Given the description of an element on the screen output the (x, y) to click on. 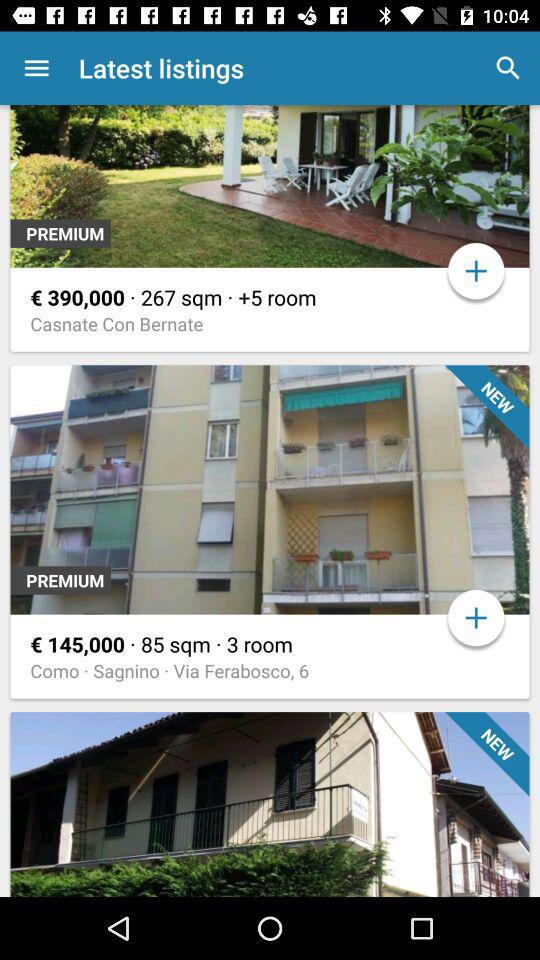
open the app next to latest listings icon (508, 67)
